Given the description of an element on the screen output the (x, y) to click on. 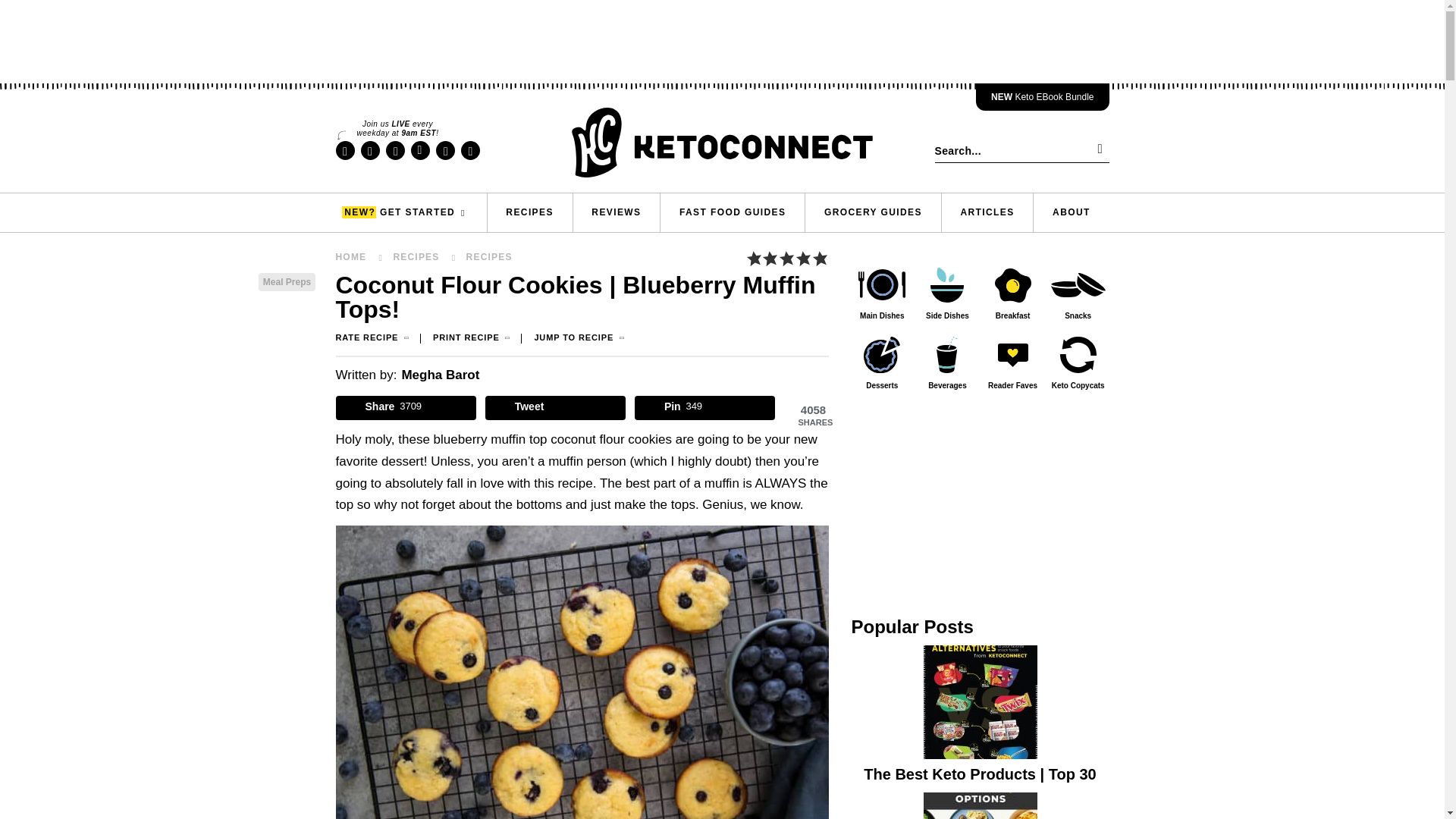
Search (1096, 150)
Search (1096, 150)
KetoConnect (721, 142)
Share on X (555, 407)
Share on Facebook (405, 407)
NEW? GET STARTED (410, 212)
Search (1096, 150)
RECIPES (529, 212)
Save to Pinterest (705, 407)
NEW Keto EBook Bundle (1041, 96)
